Given the description of an element on the screen output the (x, y) to click on. 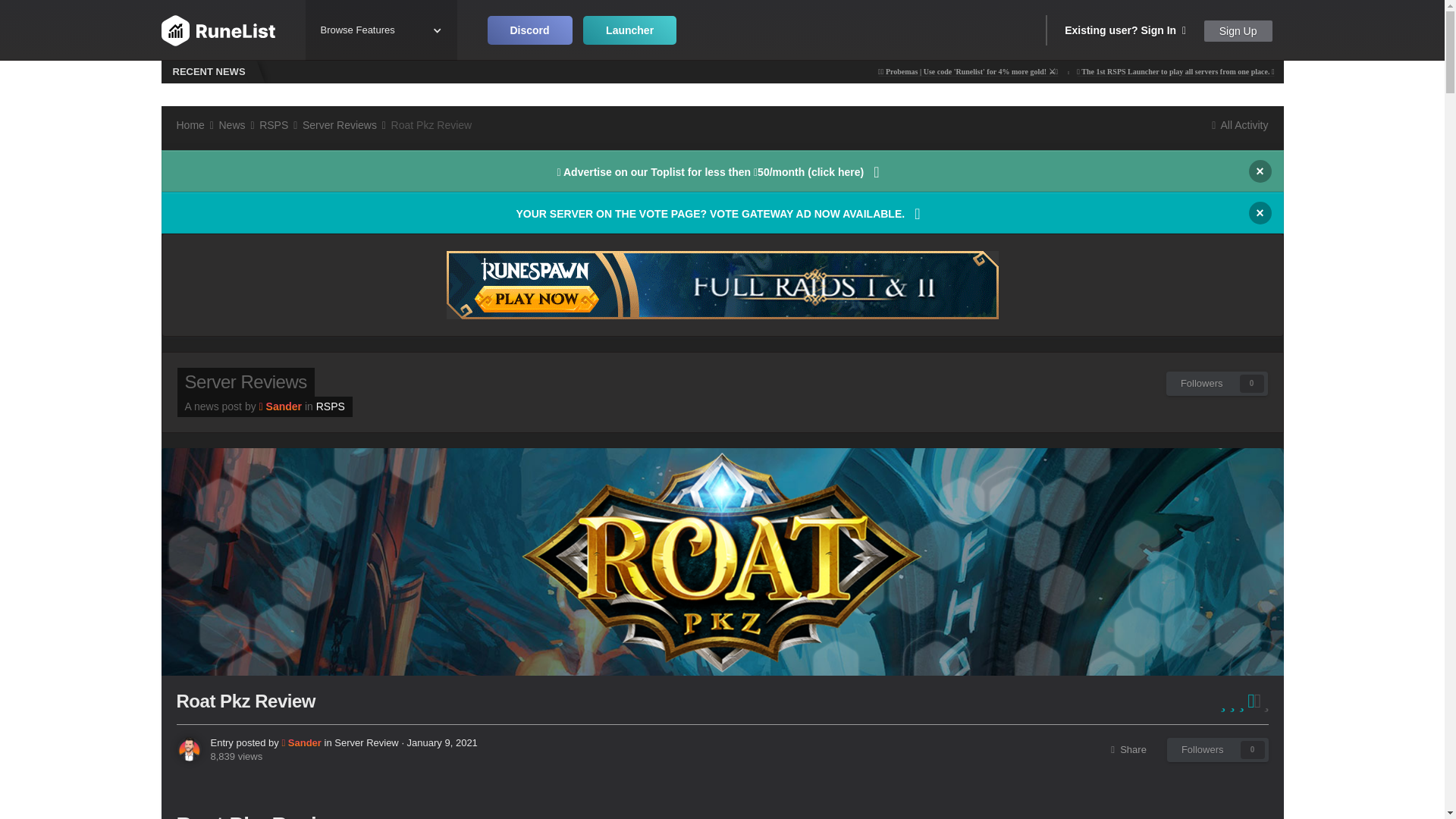
Existing user? Sign In   (1125, 30)
Go to the blog Server Reviews (245, 381)
Go to Sander's profile (280, 406)
Sign in to follow this (1217, 383)
RSPS (279, 124)
Server Reviews (345, 124)
Sign in to follow this (1217, 749)
Home (195, 124)
Launcher (630, 30)
YOUR SERVER ON THE VOTE PAGE? VOTE GATEWAY AD NOW AVAILABLE. (721, 212)
Go to Sander's profile (300, 742)
Home (195, 124)
News (237, 124)
Discord (529, 30)
Sign Up (1238, 30)
